Given the description of an element on the screen output the (x, y) to click on. 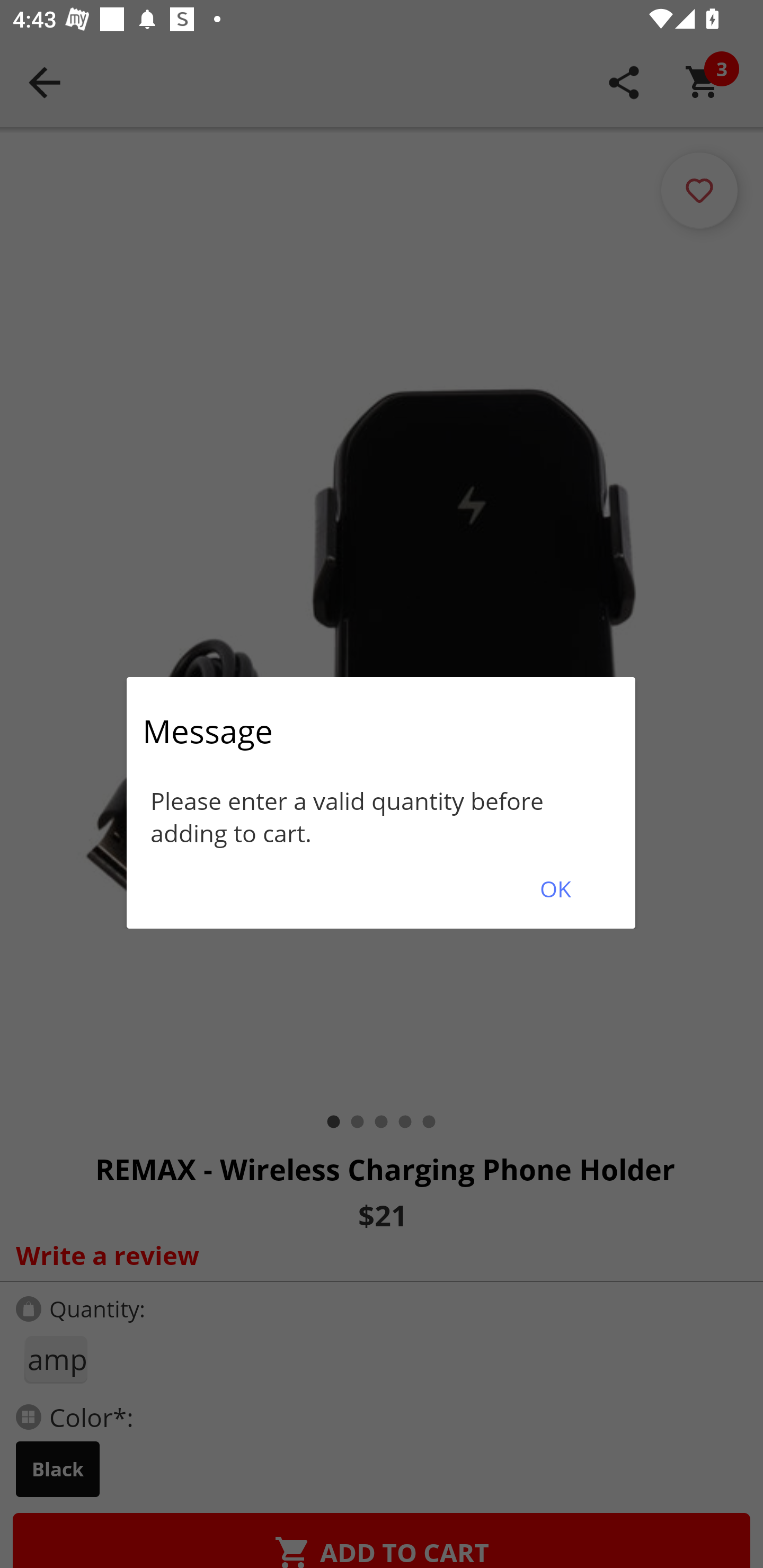
OK (555, 888)
